Given the description of an element on the screen output the (x, y) to click on. 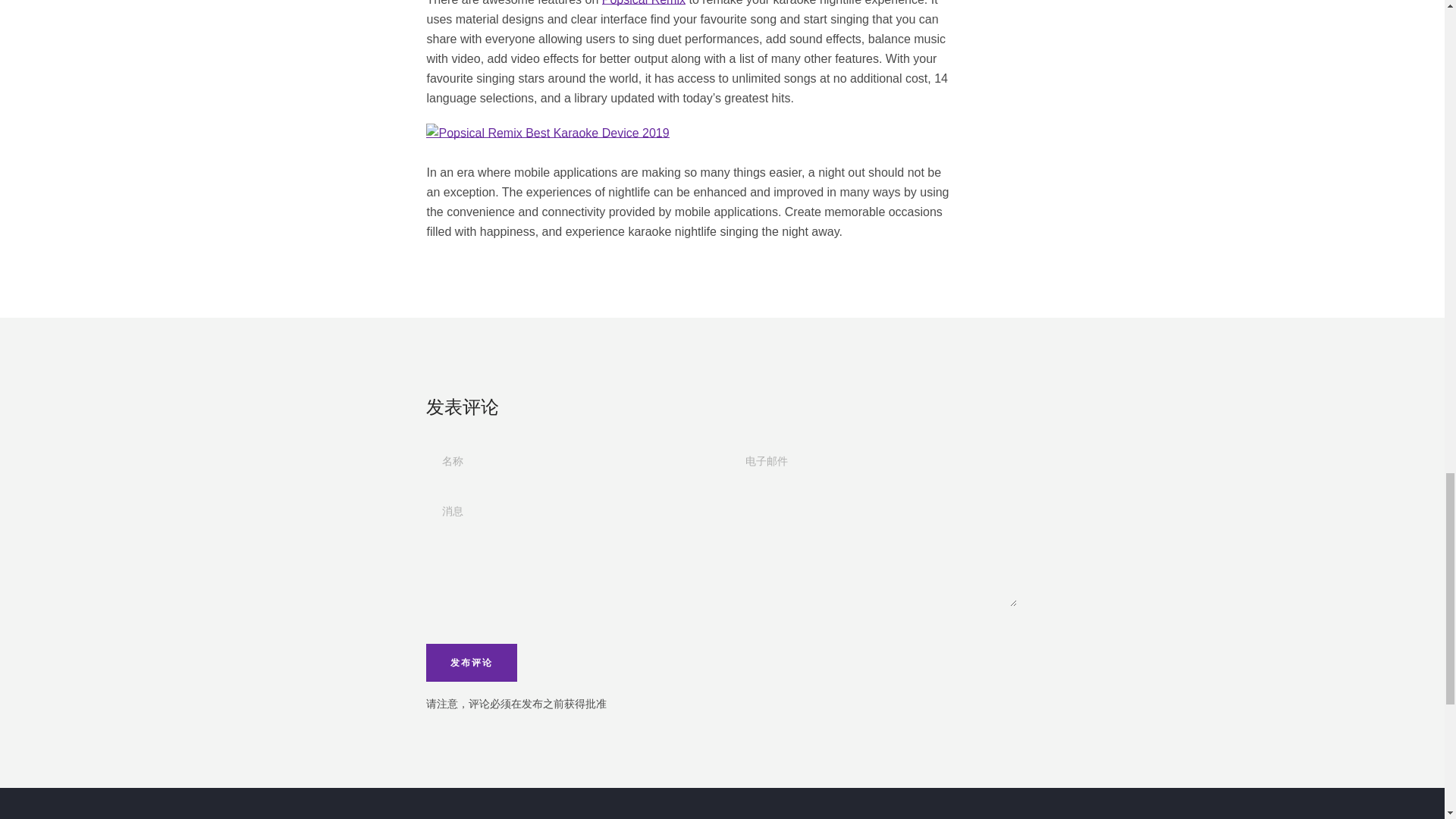
Popsical Remix (643, 2)
